Given the description of an element on the screen output the (x, y) to click on. 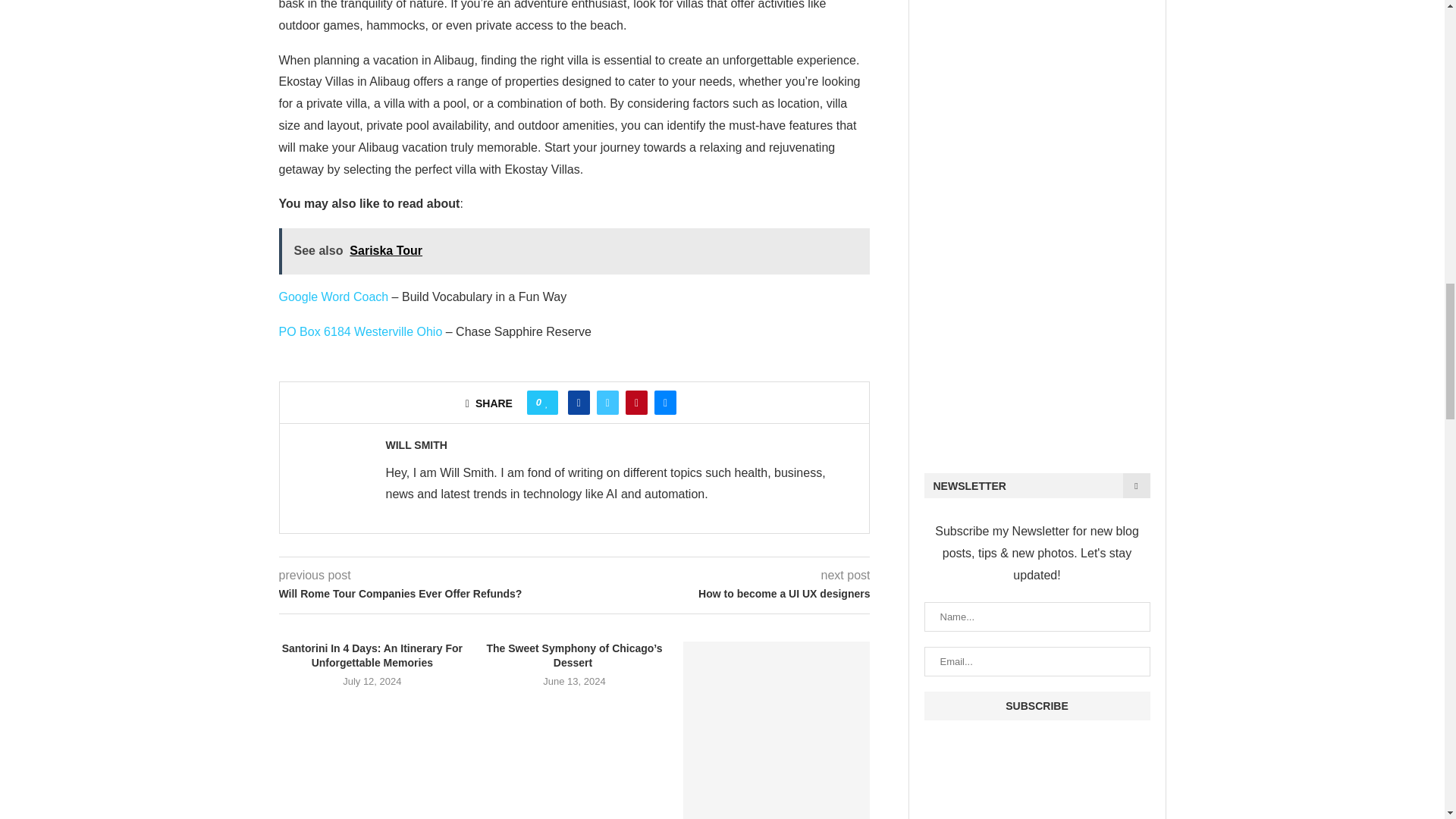
Like (546, 402)
Subscribe (1036, 705)
PO Box 6184 Westerville Ohio (360, 331)
Google Word Coach (333, 296)
Author Will Smith (415, 444)
Extremely Beautiful and Significant Mosques in Saudi Arabia (776, 730)
See also  Sariska Tour (574, 251)
